Given the description of an element on the screen output the (x, y) to click on. 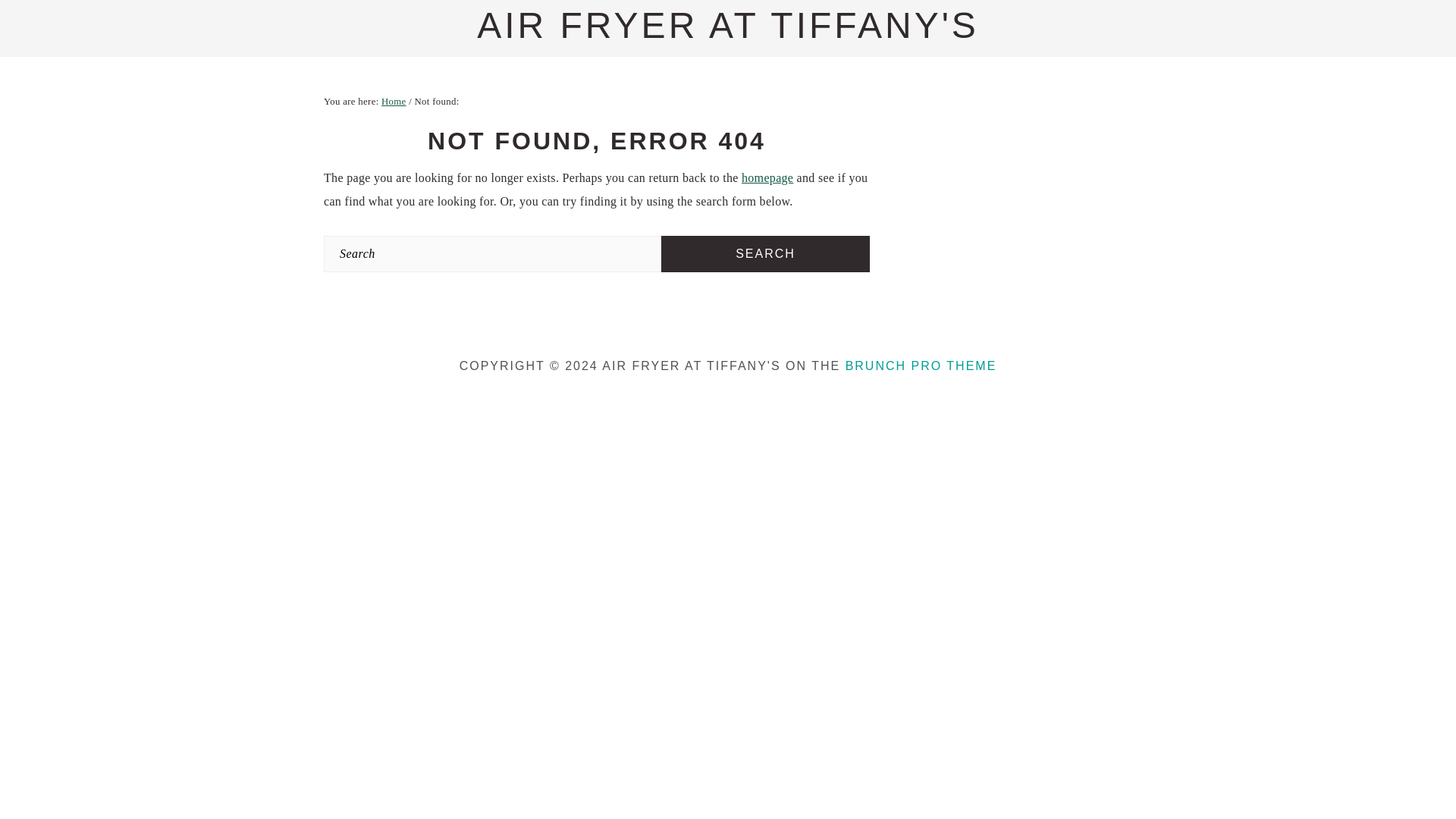
BRUNCH PRO THEME (921, 365)
Search (765, 253)
AIR FRYER AT TIFFANY'S (727, 24)
Search (765, 253)
Home (393, 101)
Search (765, 253)
homepage (767, 177)
